Given the description of an element on the screen output the (x, y) to click on. 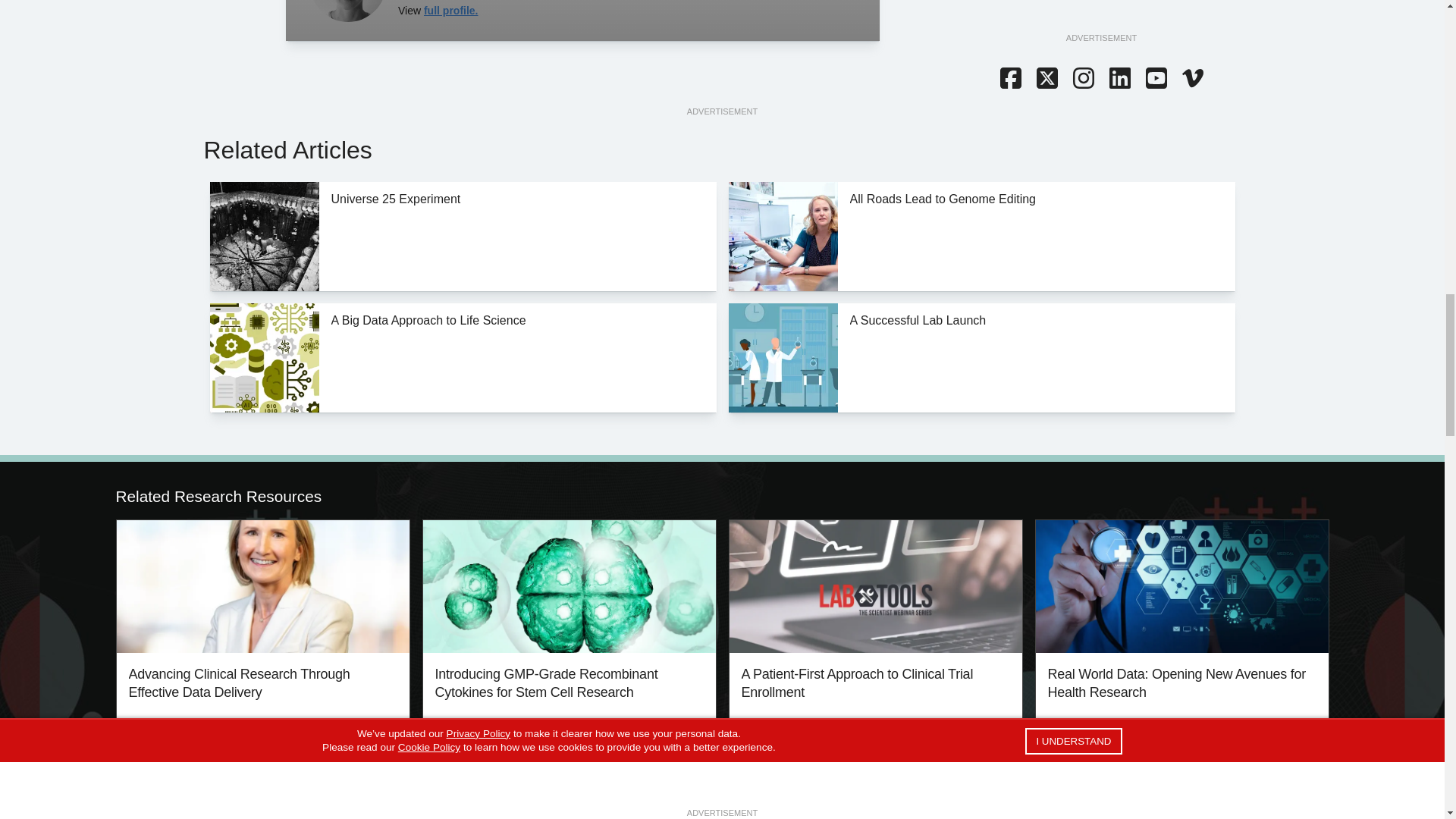
3rd party ad content (1100, 15)
Catherine Offord (347, 11)
